Given the description of an element on the screen output the (x, y) to click on. 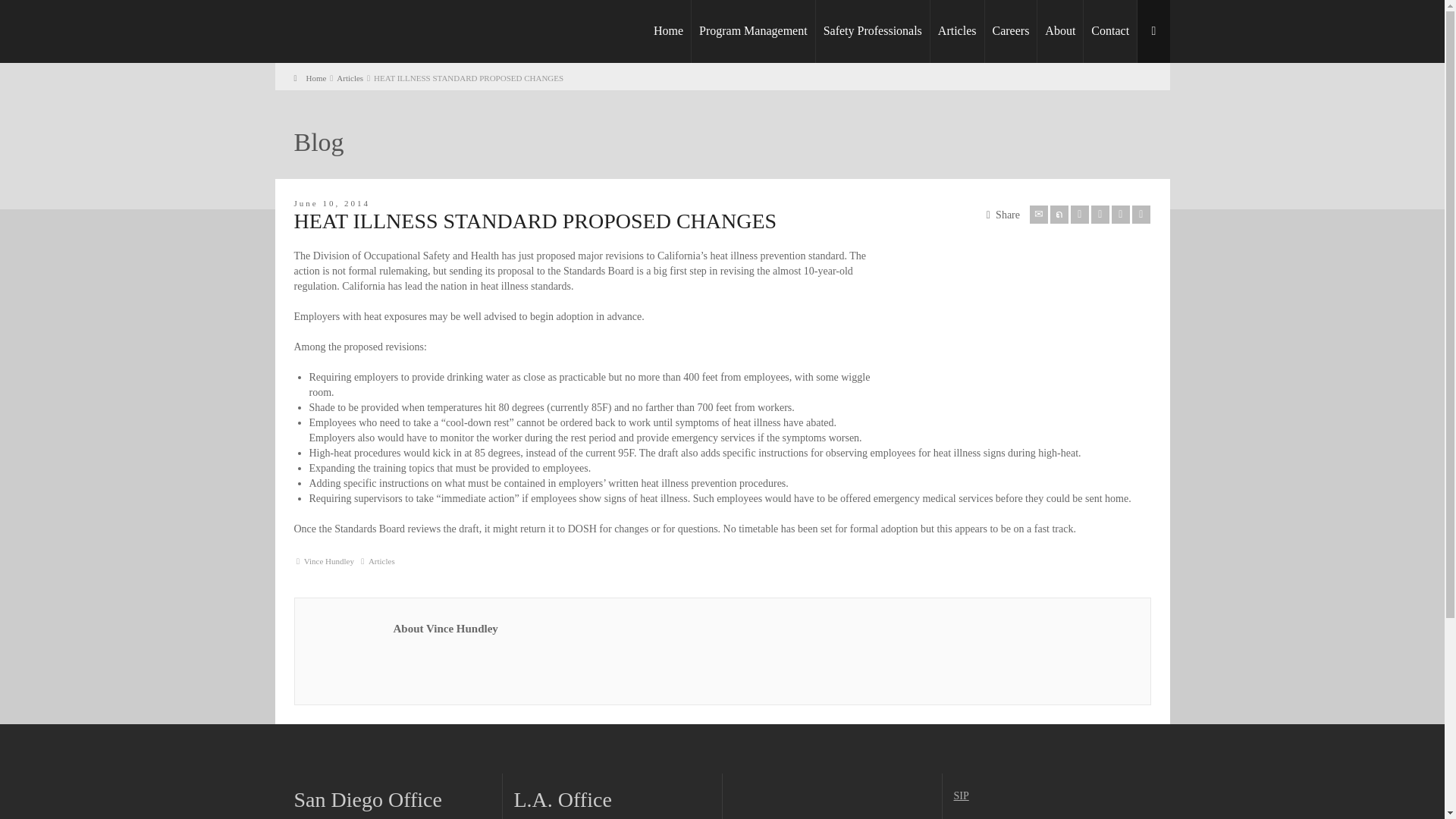
X (1058, 214)
Linkedin (1120, 214)
Email (1038, 214)
Articles (381, 560)
Articles (349, 77)
SIP (961, 795)
Vince Hundley (328, 560)
Safety Professionals (872, 31)
Facebook (1079, 214)
Pinterest (1099, 214)
